Given the description of an element on the screen output the (x, y) to click on. 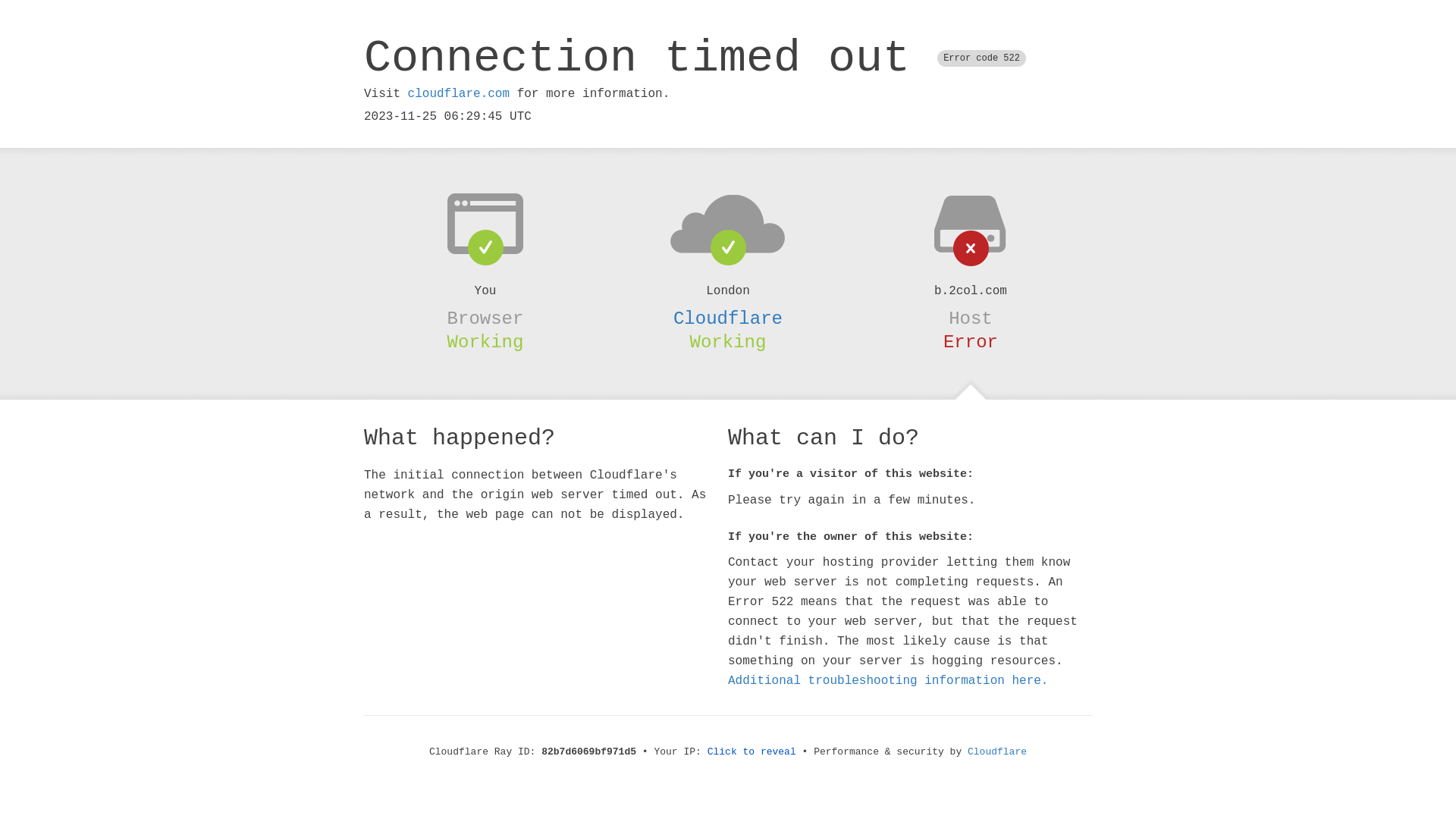
Cloudflare Element type: text (727, 318)
Click to reveal Element type: text (751, 751)
Cloudflare Element type: text (996, 751)
cloudflare.com Element type: text (458, 93)
Additional troubleshooting information here. Element type: text (888, 680)
